Given the description of an element on the screen output the (x, y) to click on. 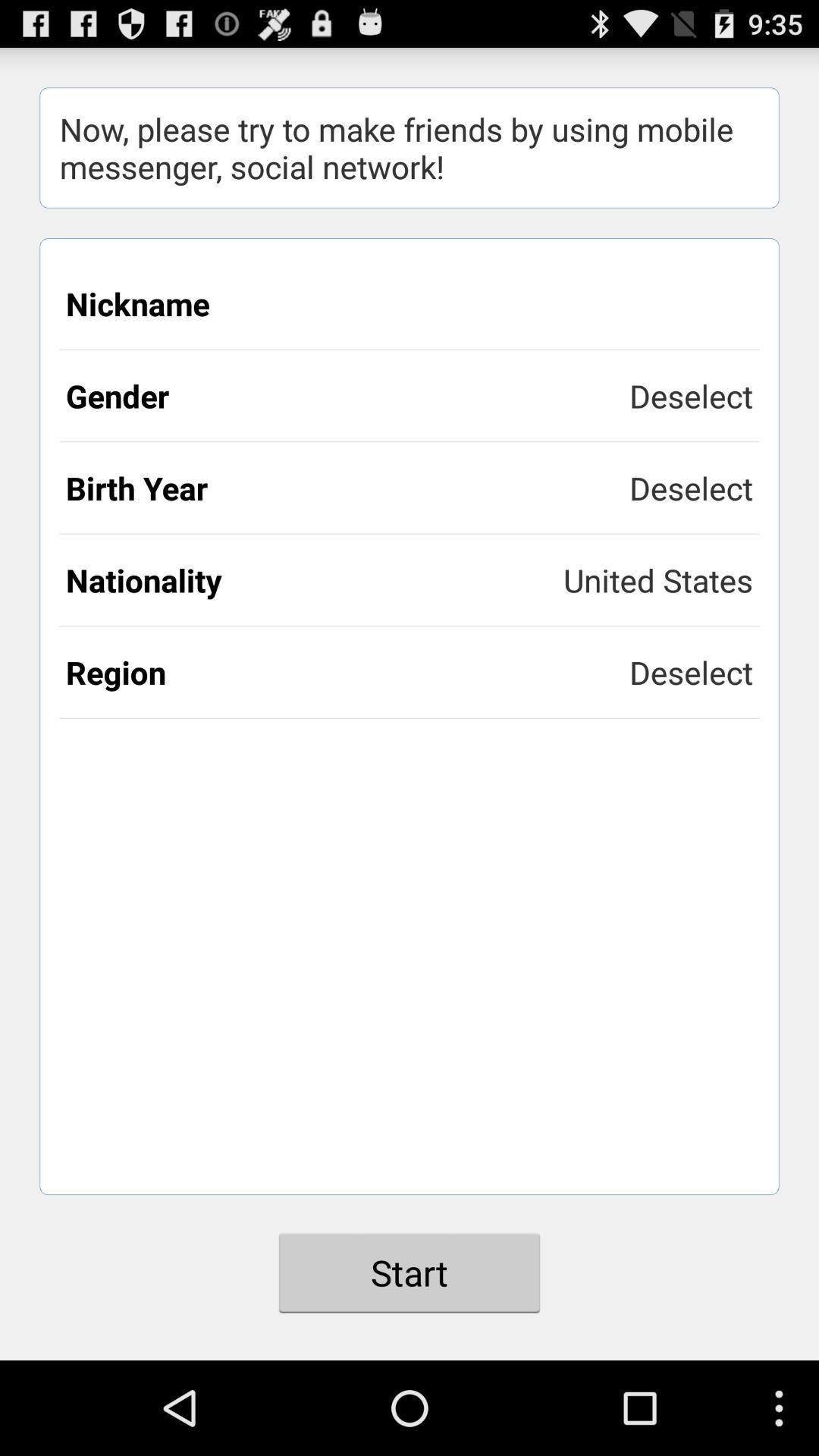
choose the item below gender item (347, 487)
